Given the description of an element on the screen output the (x, y) to click on. 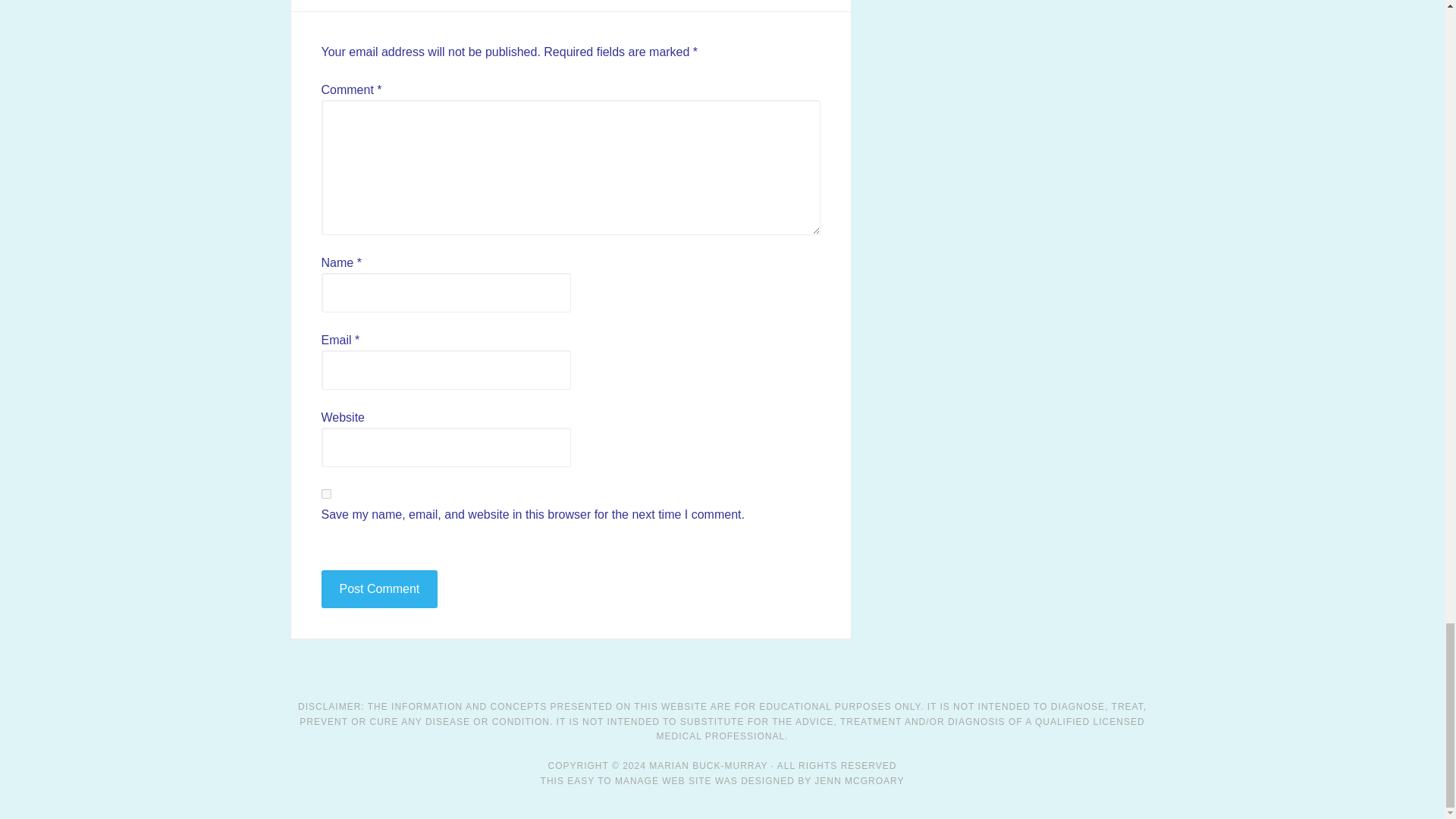
Post Comment (379, 589)
Post Comment (379, 589)
EASY TO MANAGE WEB SITE (639, 780)
JENN MCGROARY (858, 780)
yes (326, 493)
